Given the description of an element on the screen output the (x, y) to click on. 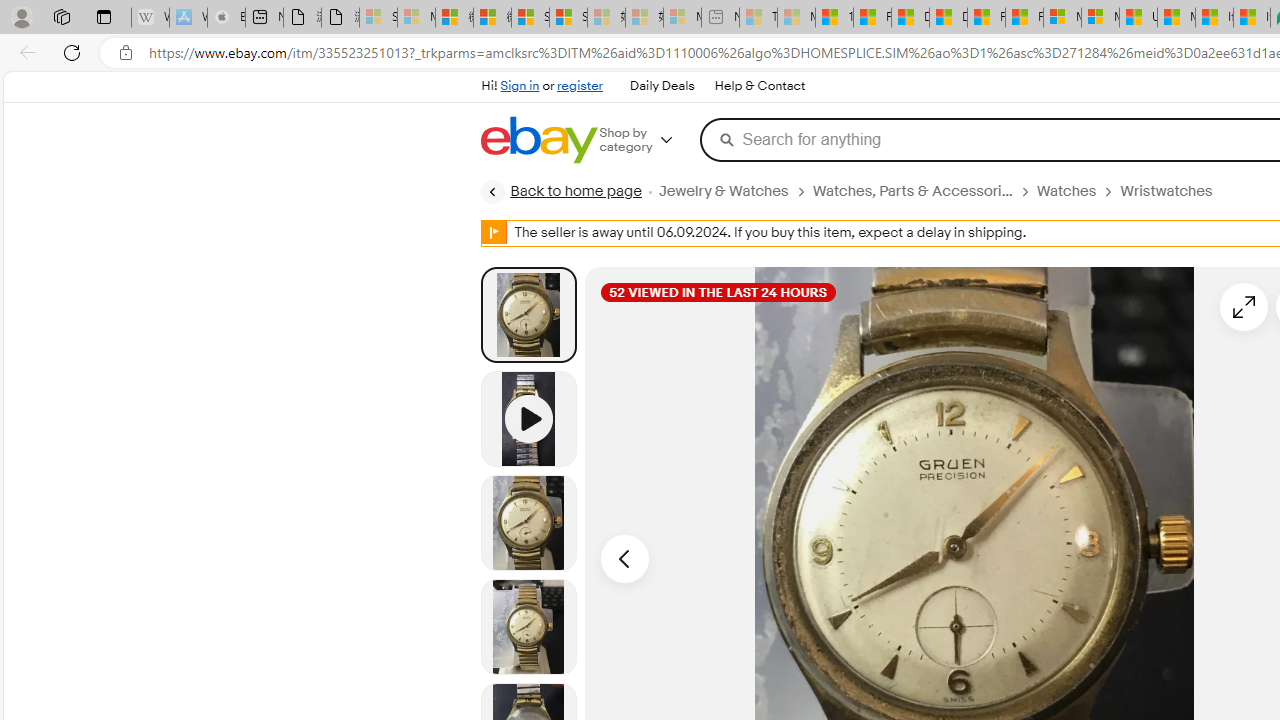
eBay Home (538, 139)
Jewelry & Watches (734, 191)
US Heat Deaths Soared To Record High Last Year (1138, 17)
Buy iPad - Apple - Sleeping (225, 17)
Daily Deals (661, 85)
Wikipedia - Sleeping (149, 17)
Picture 3 of 13 (528, 626)
Jewelry & Watches (722, 191)
Picture 2 of 13 (528, 521)
Microsoft account | Account Checkup - Sleeping (682, 17)
